Given the description of an element on the screen output the (x, y) to click on. 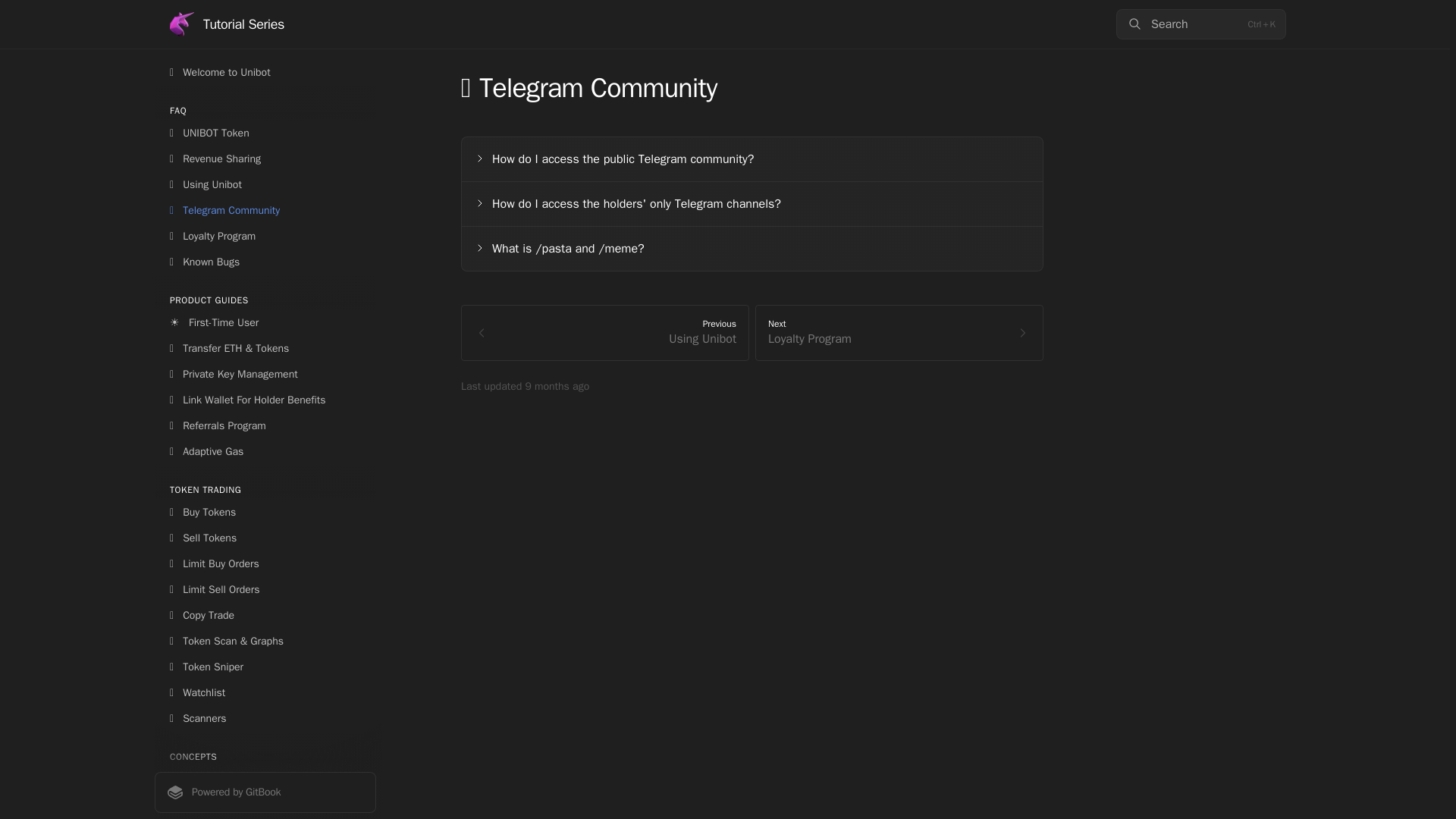
Powered by GitBook (264, 792)
Tutorial Series (899, 332)
